Given the description of an element on the screen output the (x, y) to click on. 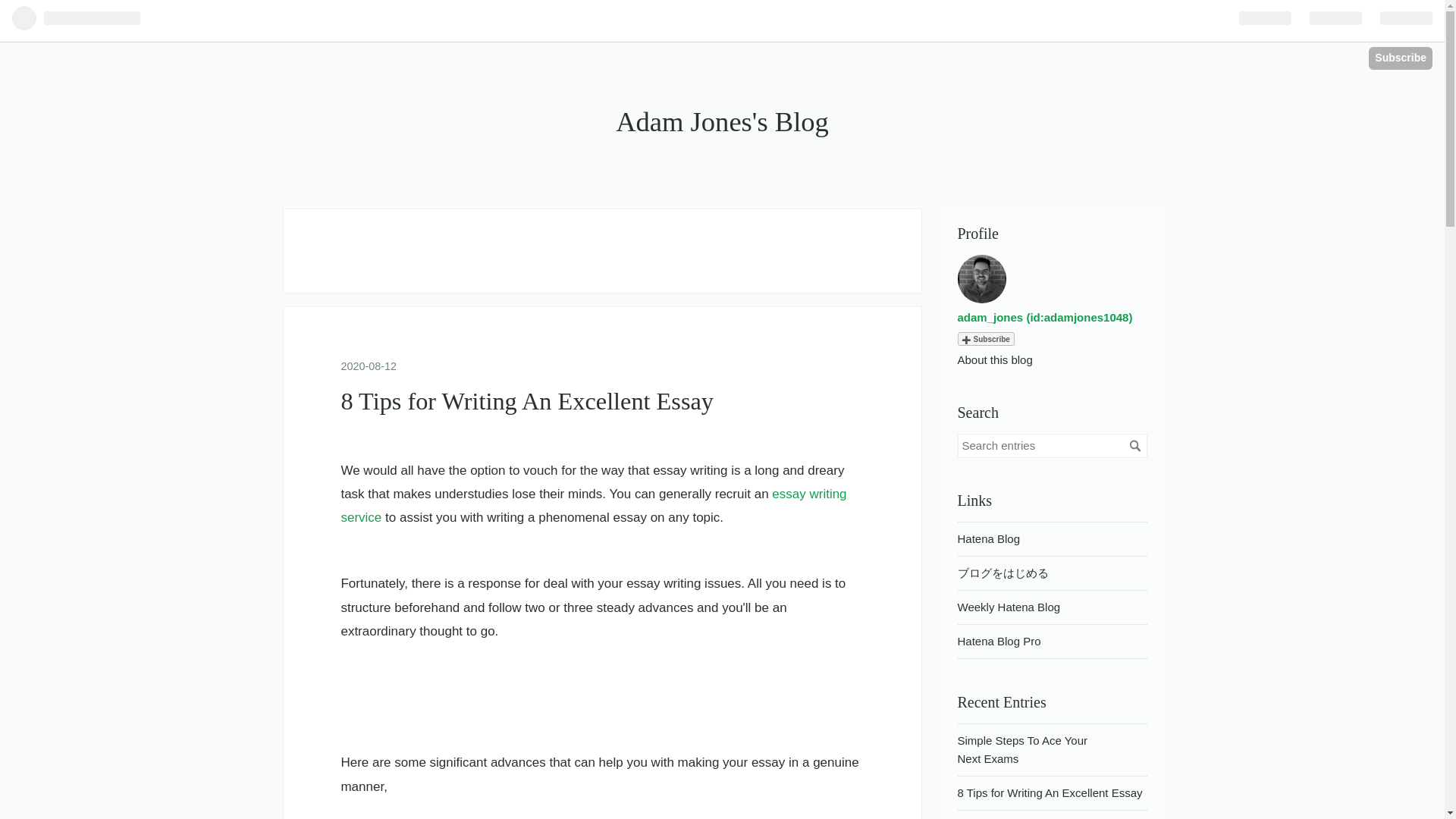
Search (1133, 445)
Subscribe (984, 338)
Hatena Blog (988, 538)
Adam Jones's Blog (721, 121)
8 Tips for Writing An Excellent Essay (526, 400)
About this blog (994, 359)
Weekly Hatena Blog (1007, 606)
Hatena Blog Pro (998, 640)
Search (1133, 445)
Simple Steps To Ace Your Next Exams (1021, 748)
